Given the description of an element on the screen output the (x, y) to click on. 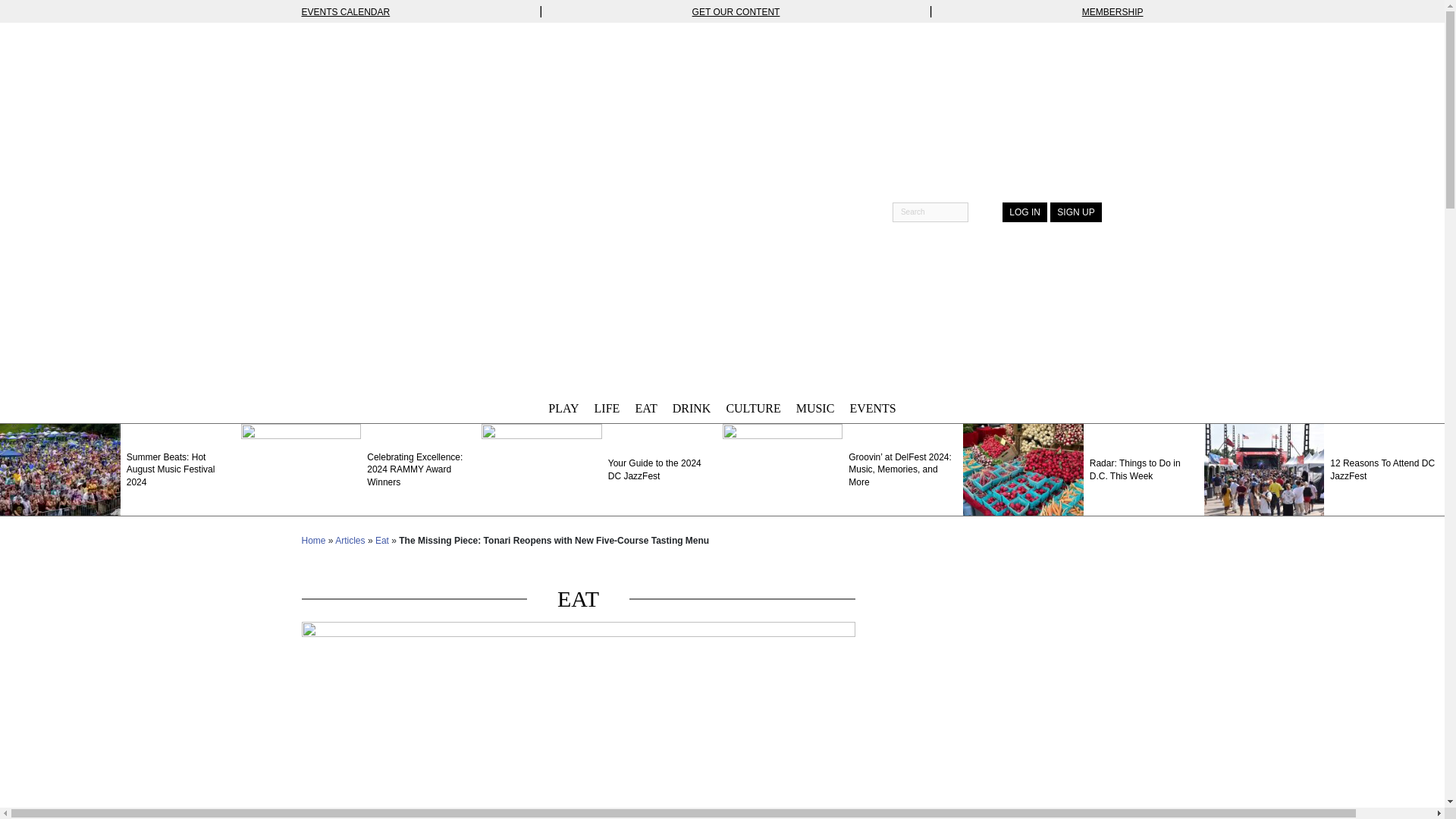
Login (1024, 211)
LIFE (607, 408)
PLAY (563, 408)
MEMBERSHIP (1111, 11)
LOG IN (1024, 211)
EVENTS CALENDAR (345, 11)
EAT (645, 408)
Register (1074, 211)
GET OUR CONTENT (736, 11)
SIGN UP (1074, 211)
